Given the description of an element on the screen output the (x, y) to click on. 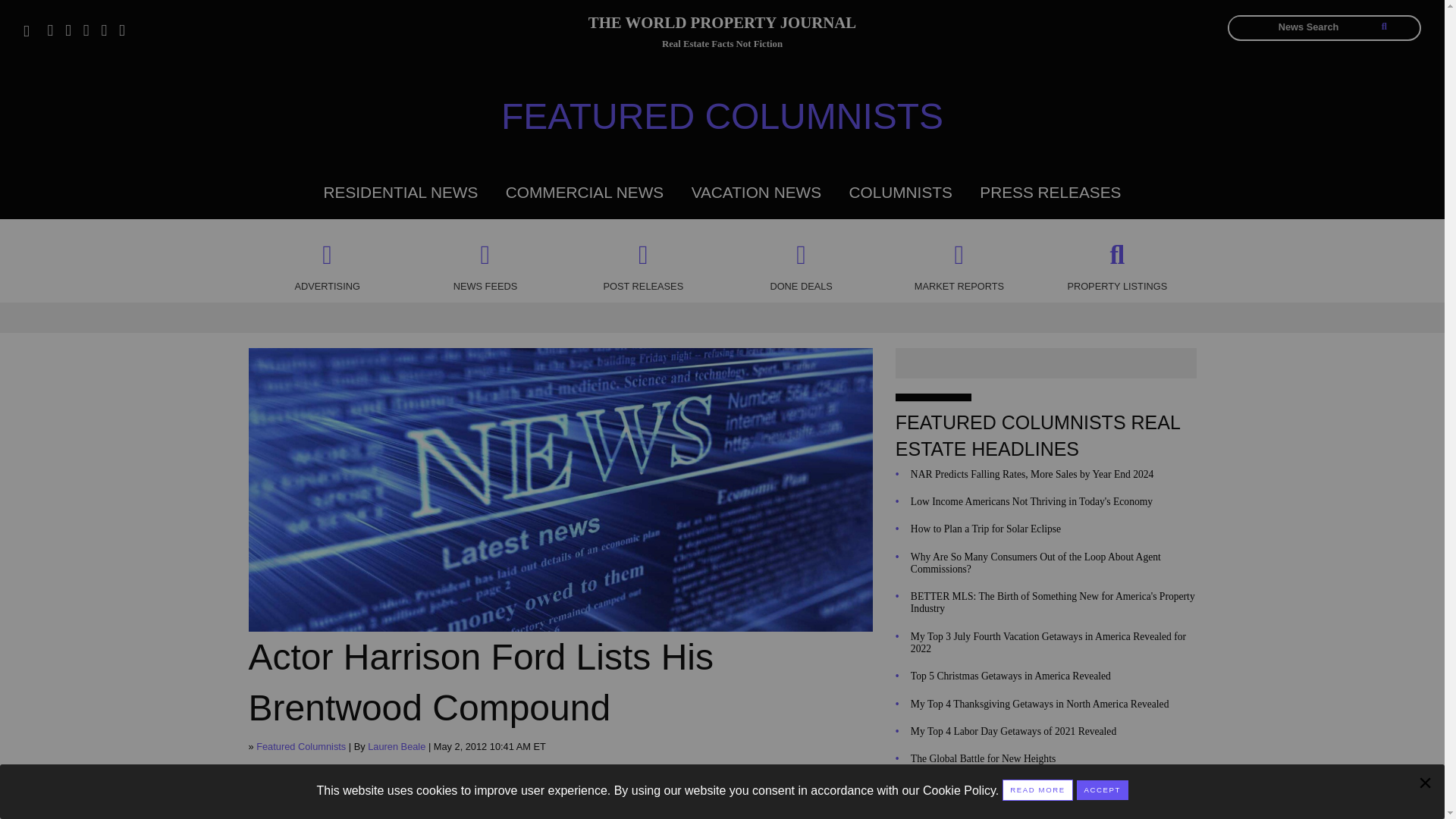
THE WORLD PROPERTY JOURNAL (721, 25)
VACATION NEWS (756, 191)
PRESS RELEASES (1050, 191)
COLUMNISTS (900, 191)
COMMERCIAL NEWS (584, 191)
RESIDENTIAL NEWS (401, 191)
